Given the description of an element on the screen output the (x, y) to click on. 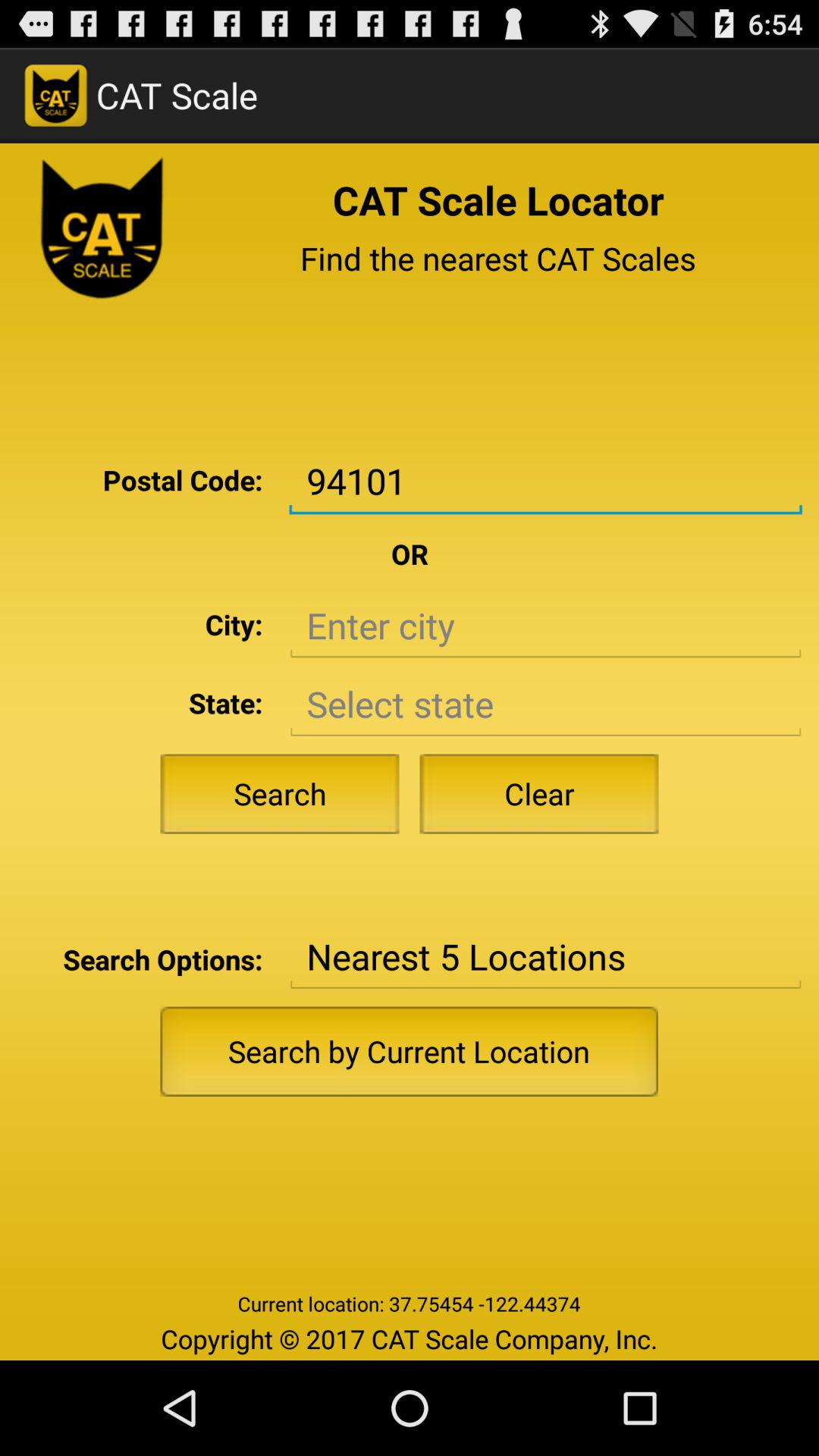
type into this (545, 625)
